Given the description of an element on the screen output the (x, y) to click on. 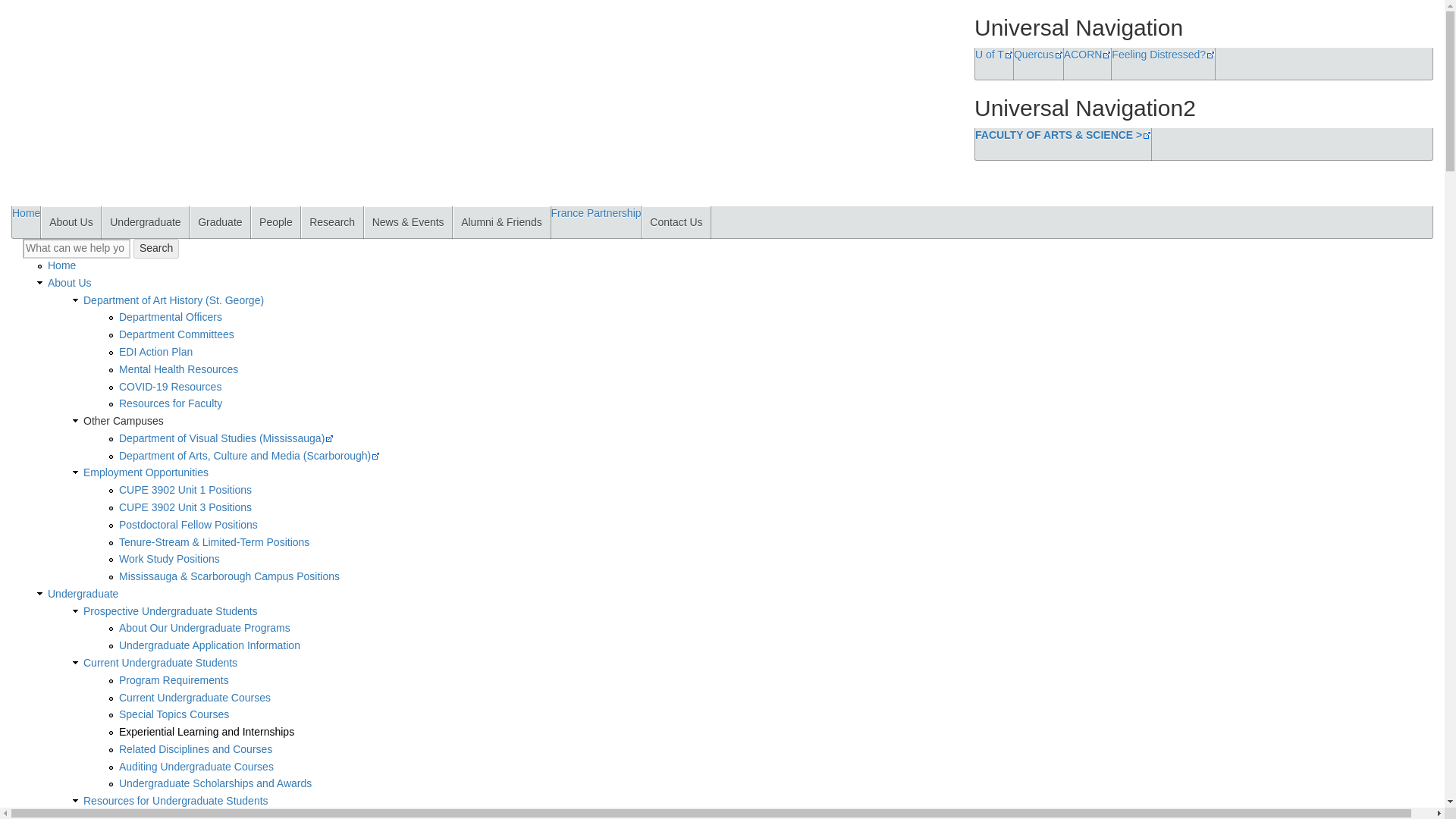
Home (428, 51)
Undergraduate (145, 222)
Feeling Distressed? (1163, 54)
U of T (994, 54)
About Us (70, 222)
Enter the terms you wish to search for. (77, 248)
Search (156, 248)
ACORN (1088, 54)
Home (25, 213)
Home (146, 155)
Quercus (1037, 54)
